Given the description of an element on the screen output the (x, y) to click on. 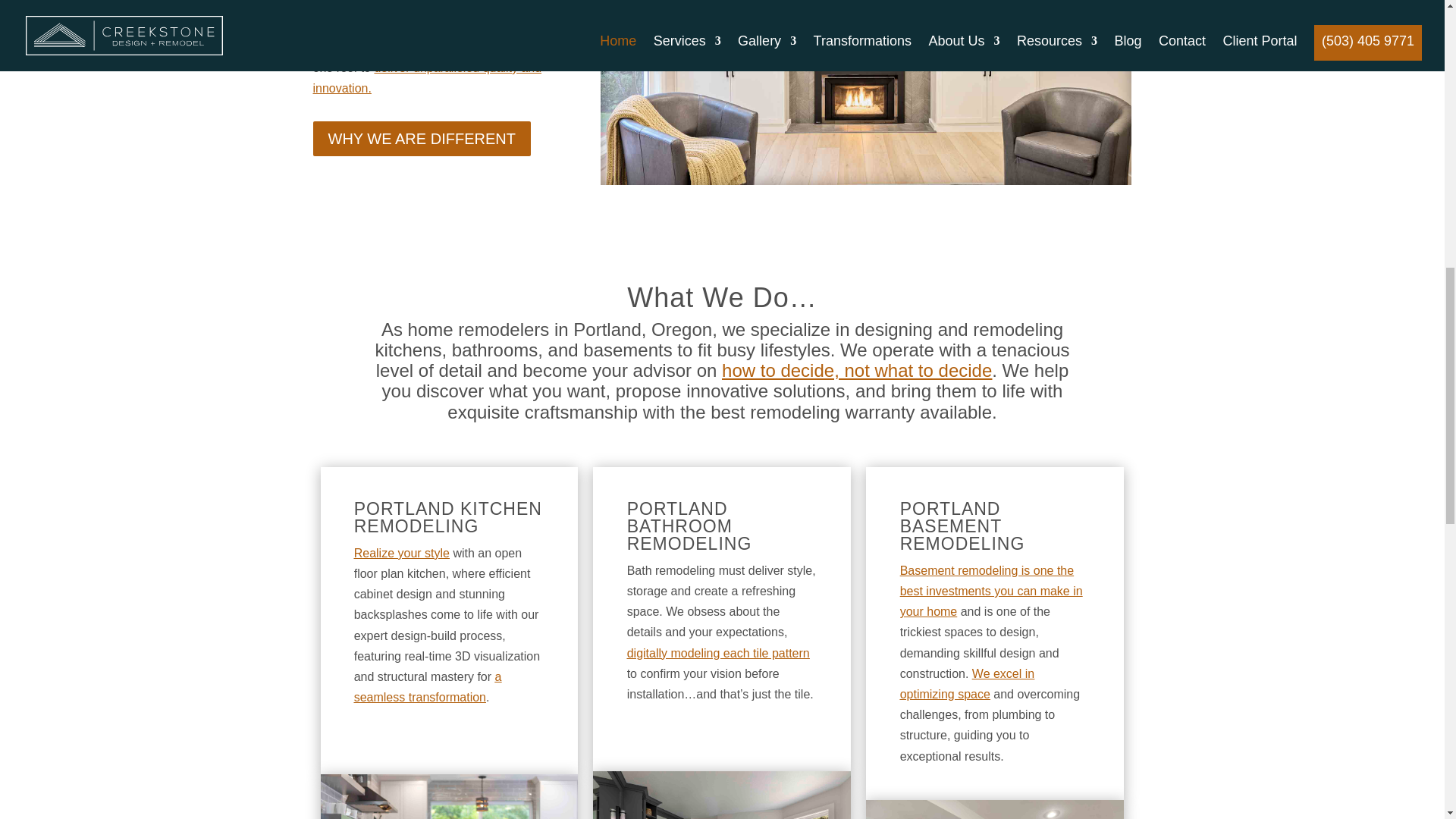
PORTLAND KITCHEN REMODELING (447, 517)
PORTLAND BASEMENT REMODELING (962, 525)
digitally modeling each tile pattern (718, 653)
WHY WE ARE DIFFERENT (421, 138)
Realize your style (401, 553)
PORTLAND BATHROOM REMODELING (689, 525)
a seamless transformation (427, 686)
We excel in optimizing space (967, 684)
Fireplace (865, 92)
how to decide, not what to decide (856, 370)
deliver unparalleled quality and innovation. (427, 78)
